Given the description of an element on the screen output the (x, y) to click on. 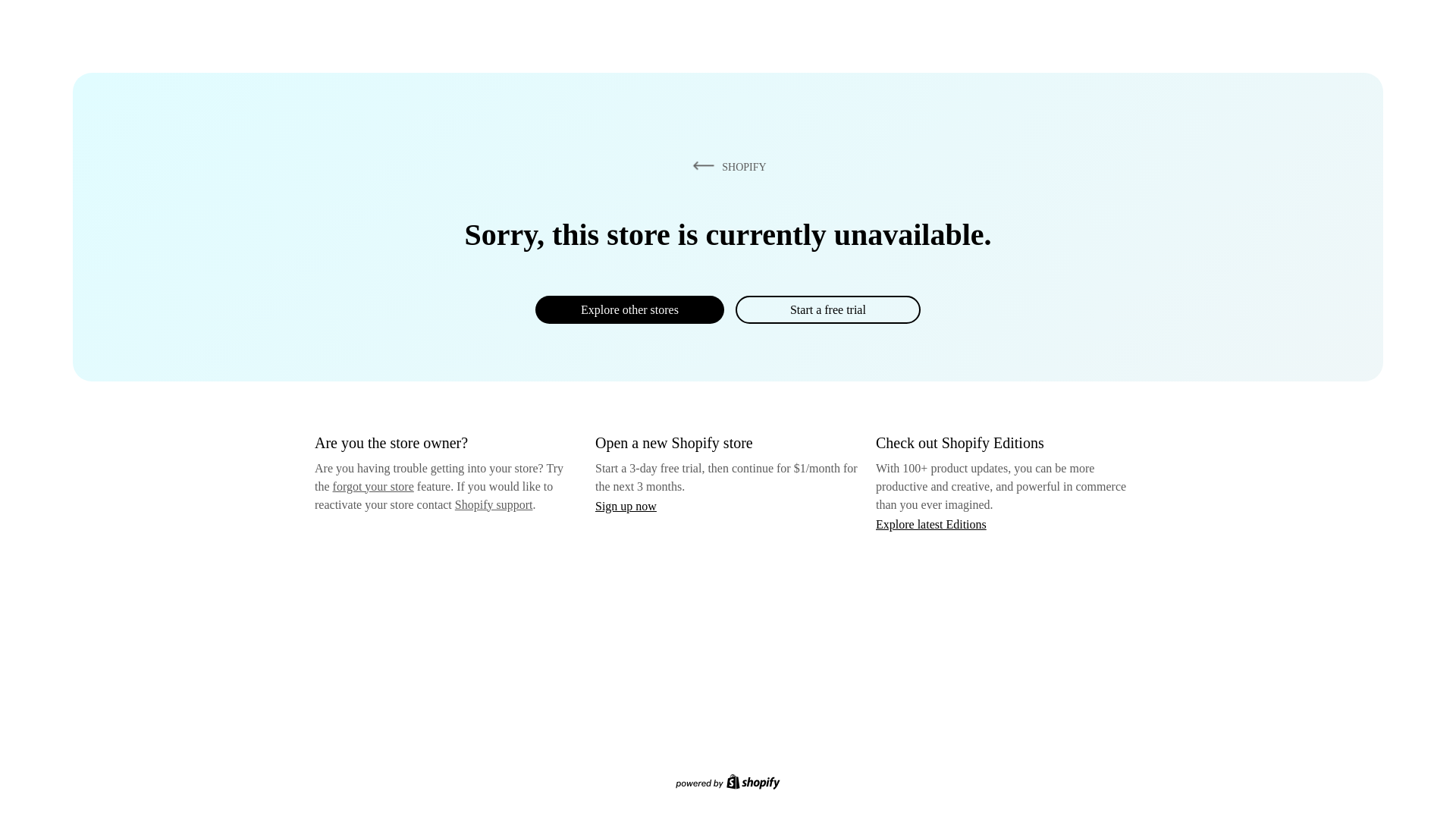
Explore latest Editions (931, 523)
Explore other stores (629, 309)
Start a free trial (827, 309)
forgot your store (373, 486)
SHOPIFY (726, 166)
Sign up now (625, 505)
Shopify support (493, 504)
